Given the description of an element on the screen output the (x, y) to click on. 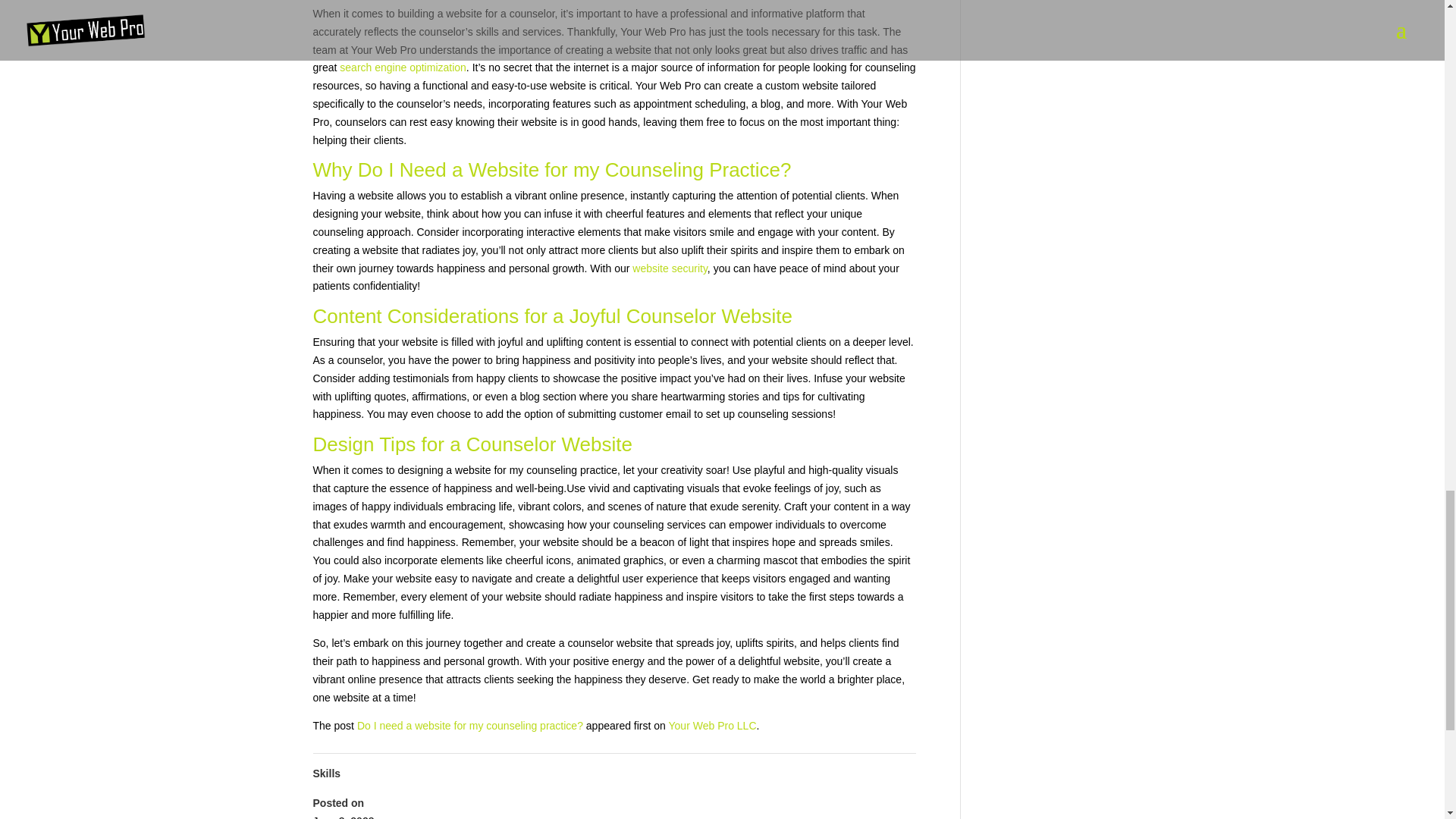
Your Web Pro LLC (712, 725)
website security (669, 268)
search engine optimization (402, 67)
Do I need a website for my counseling practice? (469, 725)
